Given the description of an element on the screen output the (x, y) to click on. 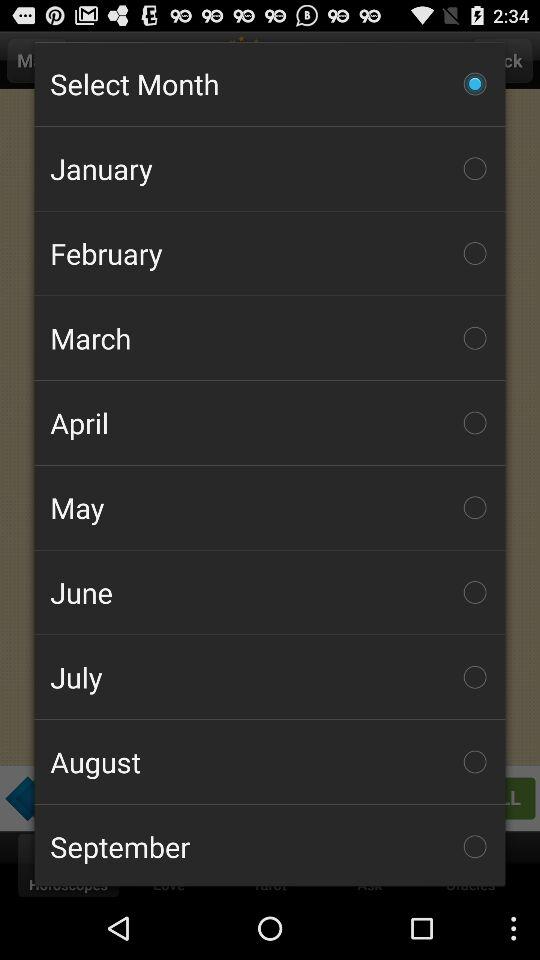
open the checkbox below the june icon (269, 677)
